Given the description of an element on the screen output the (x, y) to click on. 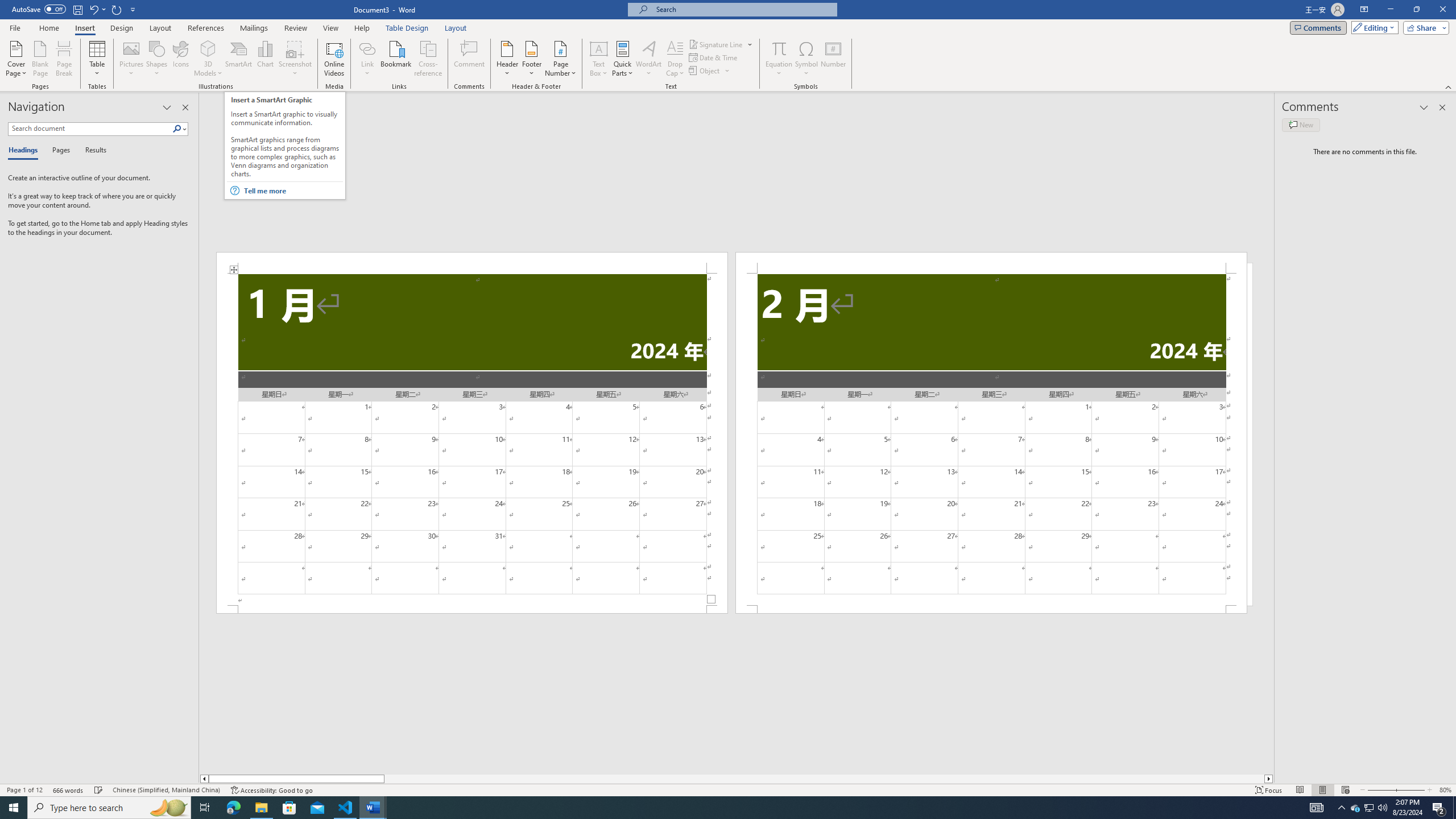
Symbol (806, 58)
Page 2 content (991, 439)
Icons (180, 58)
Shapes (156, 58)
Text Box (598, 58)
Cross-reference... (428, 58)
